Given the description of an element on the screen output the (x, y) to click on. 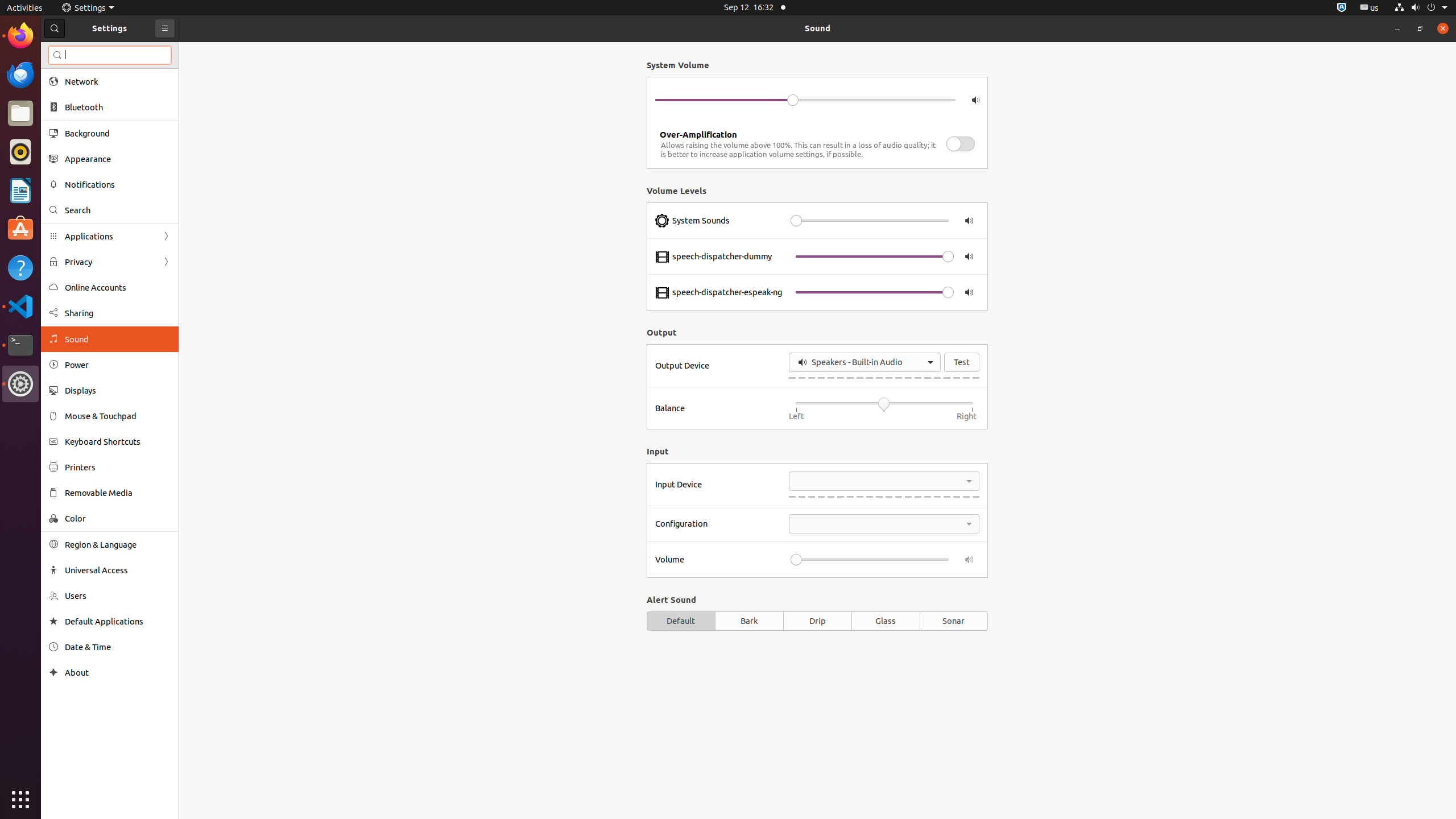
Restore Element type: push-button (1419, 27)
Input Device Element type: label (718, 484)
Printers Element type: label (117, 467)
Keyboard Shortcuts Element type: label (117, 441)
Removable Media Element type: label (117, 492)
